Given the description of an element on the screen output the (x, y) to click on. 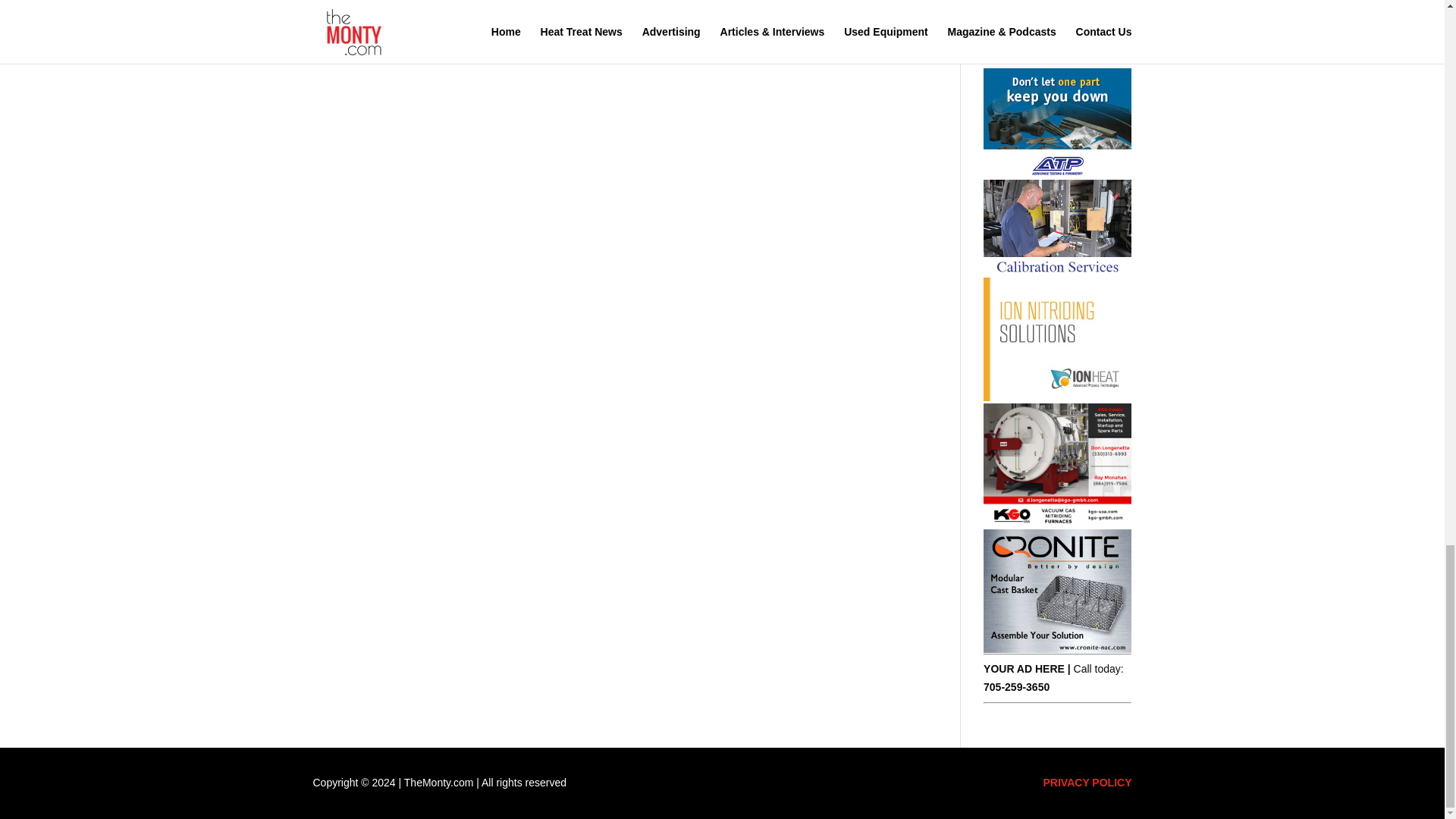
PRIVACY POLICY (1087, 782)
